Given the description of an element on the screen output the (x, y) to click on. 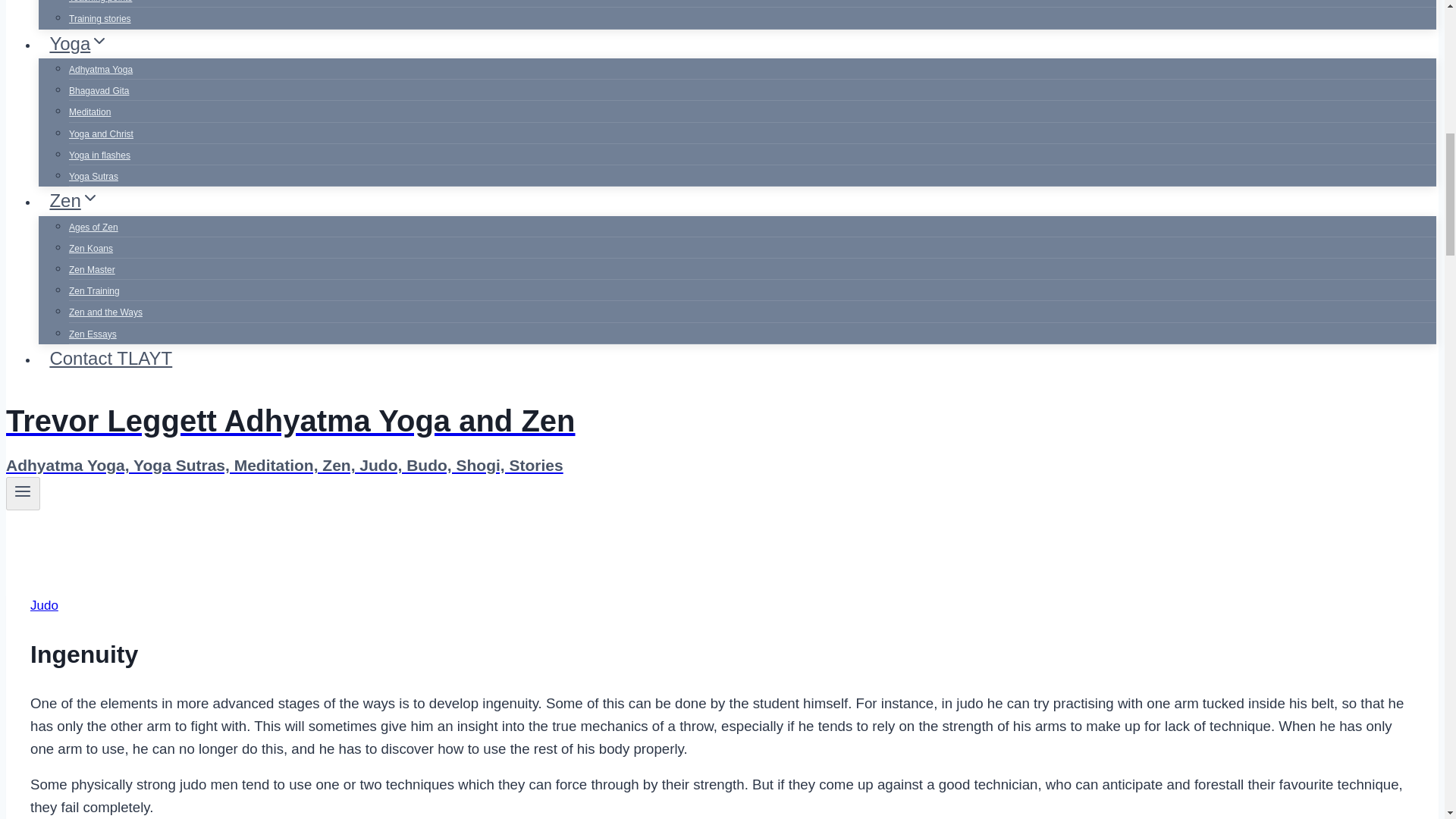
Adhyatma Yoga (100, 69)
Teaching points (100, 6)
Zen Koans (90, 248)
Toggle Menu (22, 491)
Ages of Zen (92, 226)
YogaExpand (79, 43)
Zen Master (91, 269)
Yoga Sutras (92, 176)
Training stories (99, 18)
Yoga and Christ (100, 133)
Yoga in flashes (99, 154)
Expand (90, 198)
Zen Training (93, 290)
Bhagavad Gita (98, 90)
Meditation (89, 111)
